Given the description of an element on the screen output the (x, y) to click on. 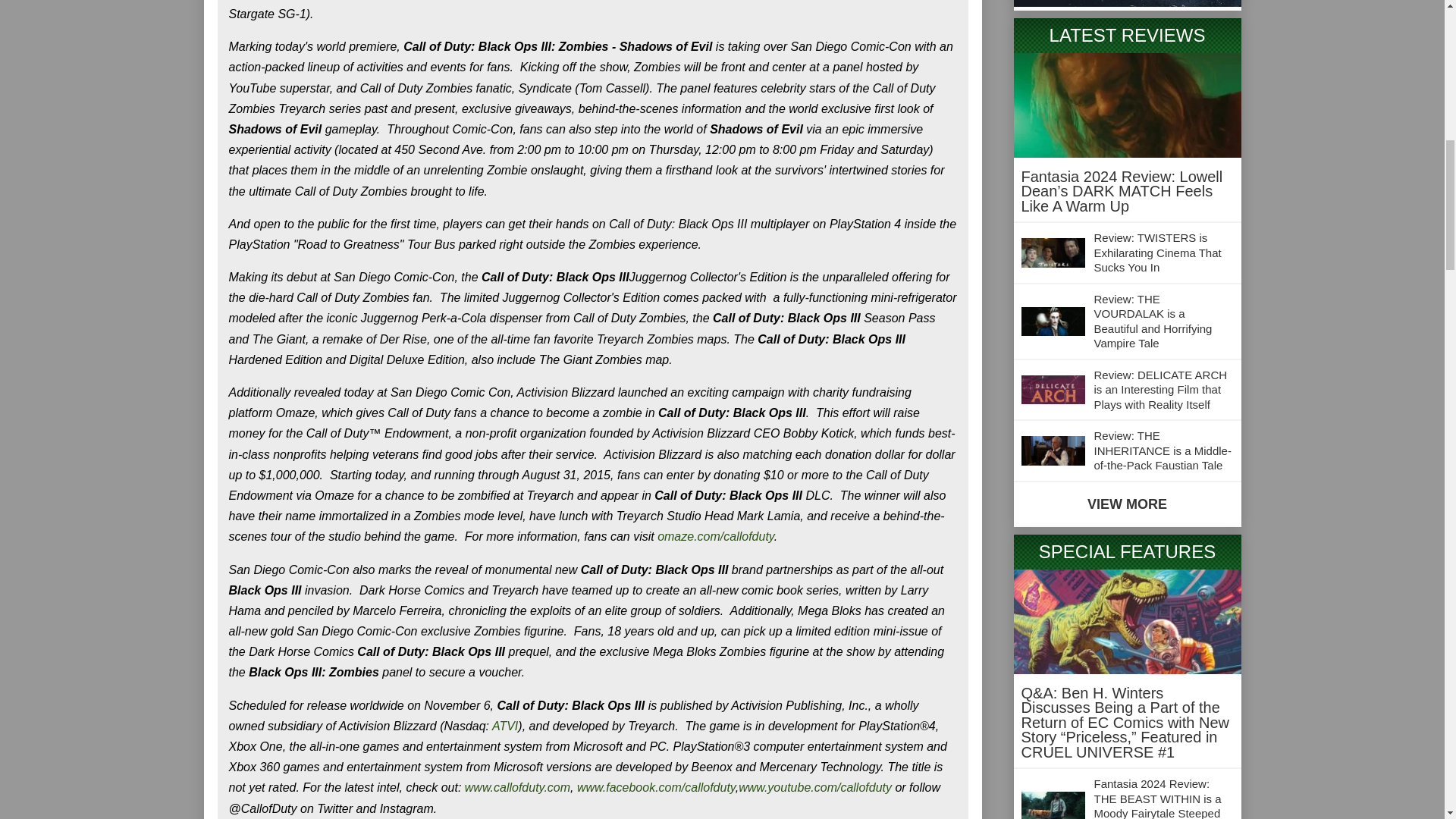
www.callofduty.com (517, 787)
ATVI (505, 725)
